Given the description of an element on the screen output the (x, y) to click on. 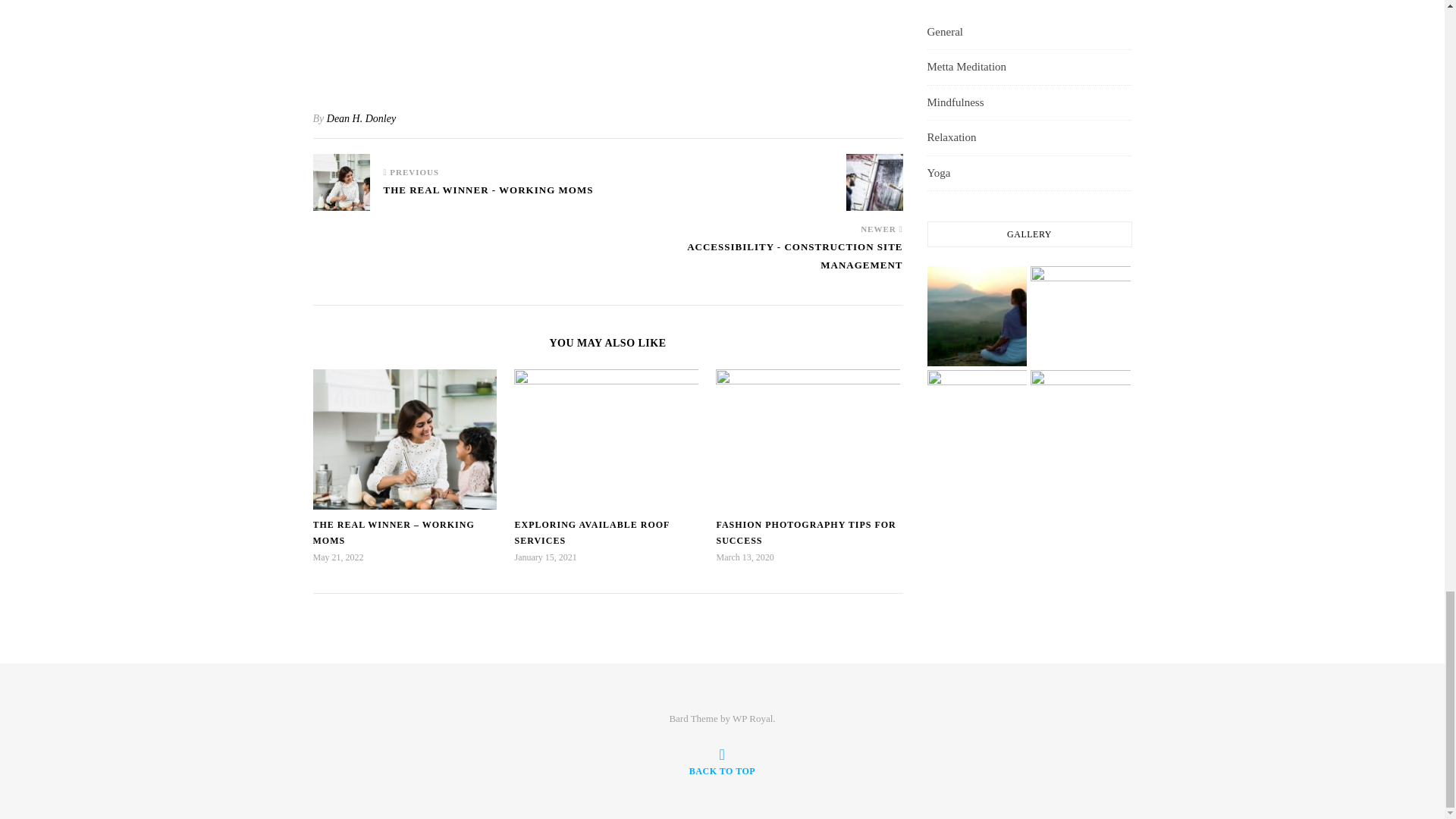
The Real Winner - Working Moms (341, 181)
BACK TO TOP (722, 761)
ACCESSIBILITY - CONSTRUCTION SITE MANAGEMENT (755, 263)
The Real Winner - Working Moms (489, 196)
Posts by Dean H. Donley (361, 118)
Dean H. Donley (361, 118)
Accessibility - Construction Site Management (873, 181)
YouTube video player (607, 40)
Accessibility - Construction Site Management (755, 263)
THE REAL WINNER - WORKING MOMS (489, 196)
